Given the description of an element on the screen output the (x, y) to click on. 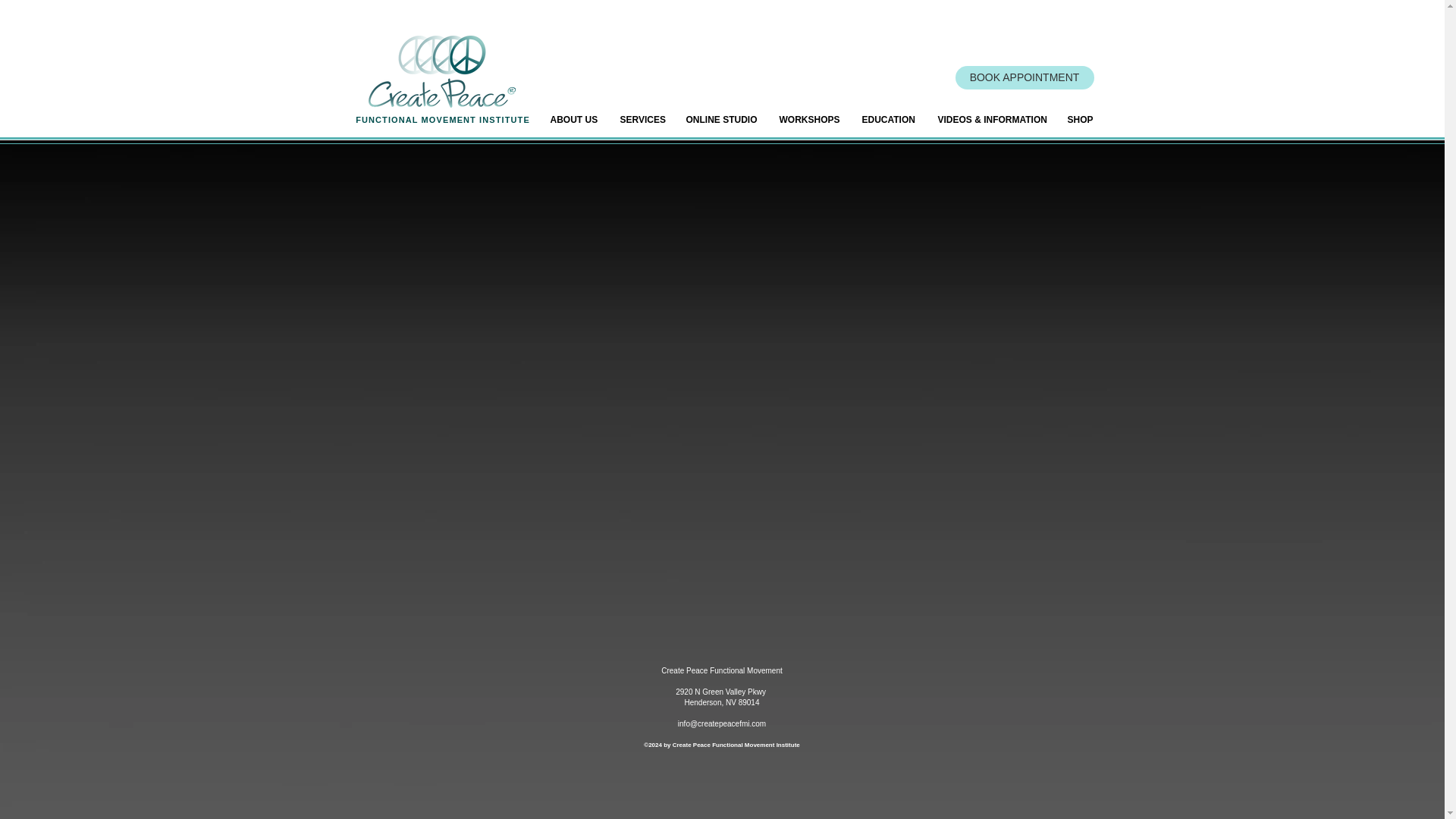
SHOP (1079, 119)
EDUCATION (888, 119)
WORKSHOPS (808, 119)
ONLINE STUDIO (721, 119)
ABOUT US (573, 119)
FUNCTIONAL MOVEMENT INSTITUTE (442, 119)
SERVICES (641, 119)
BOOK APPOINTMENT (1024, 77)
